Given the description of an element on the screen output the (x, y) to click on. 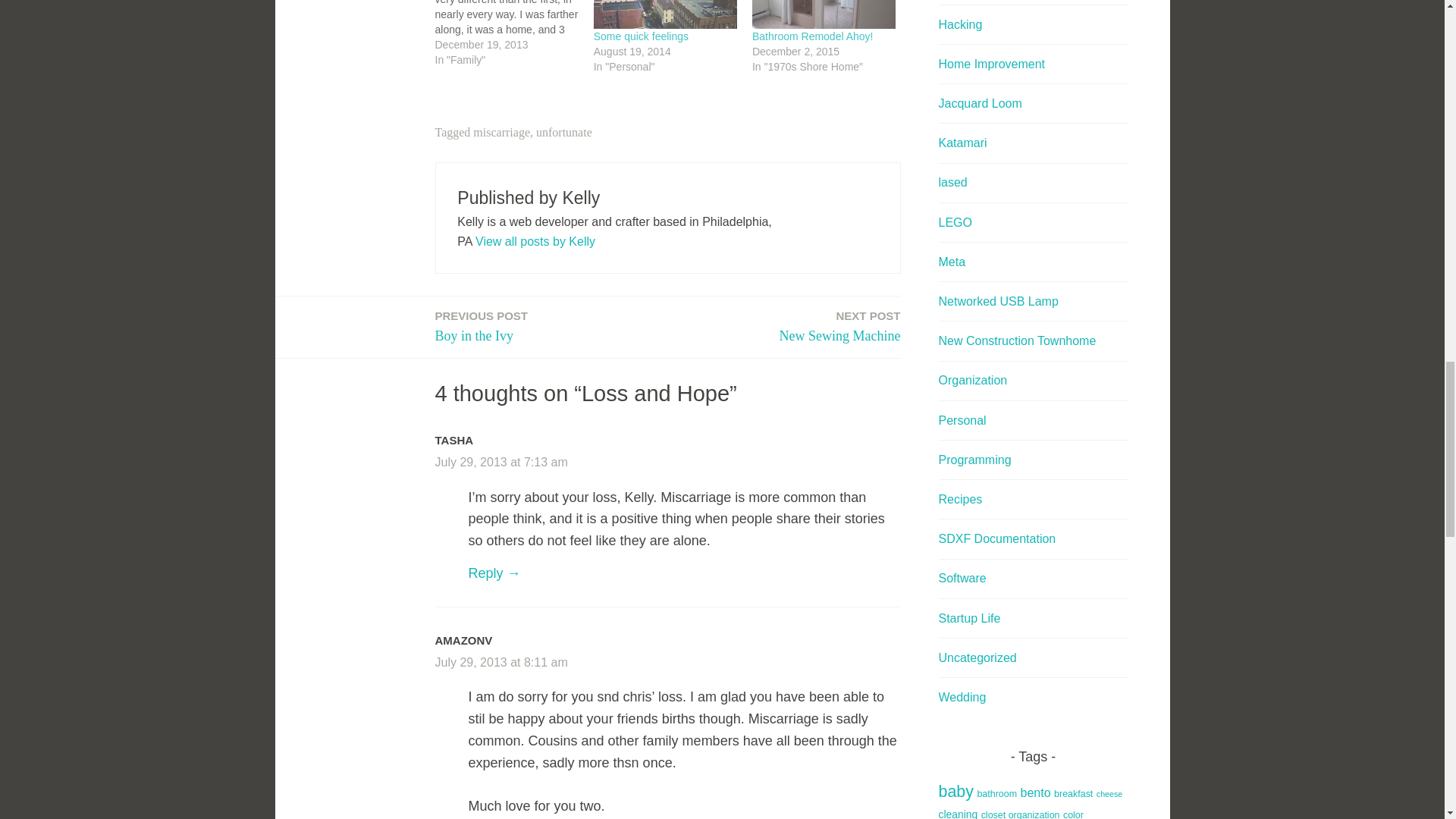
Some quick feelings (665, 13)
Some quick feelings (641, 36)
Reply (494, 572)
miscarriage (501, 132)
Some quick feelings (641, 36)
Bathroom Remodel Ahoy! (812, 36)
July 29, 2013 at 7:13 am (839, 327)
Now is the hard part (501, 461)
Bathroom Remodel Ahoy! (514, 33)
View all posts by Kelly (823, 13)
unfortunate (535, 241)
Bathroom Remodel Ahoy! (563, 132)
July 29, 2013 at 8:11 am (812, 36)
